Given the description of an element on the screen output the (x, y) to click on. 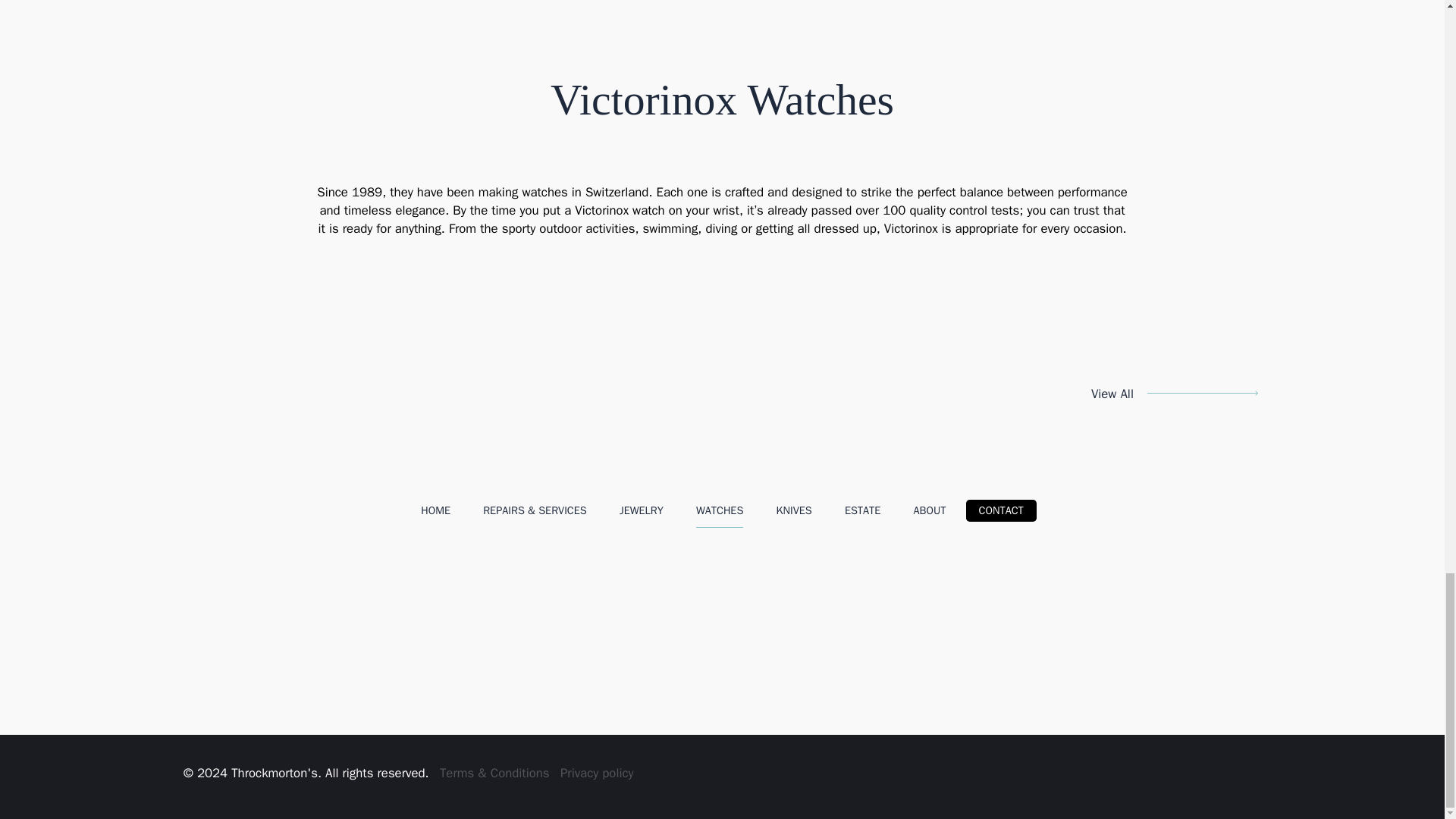
HOME (434, 510)
View All (1175, 393)
